Given the description of an element on the screen output the (x, y) to click on. 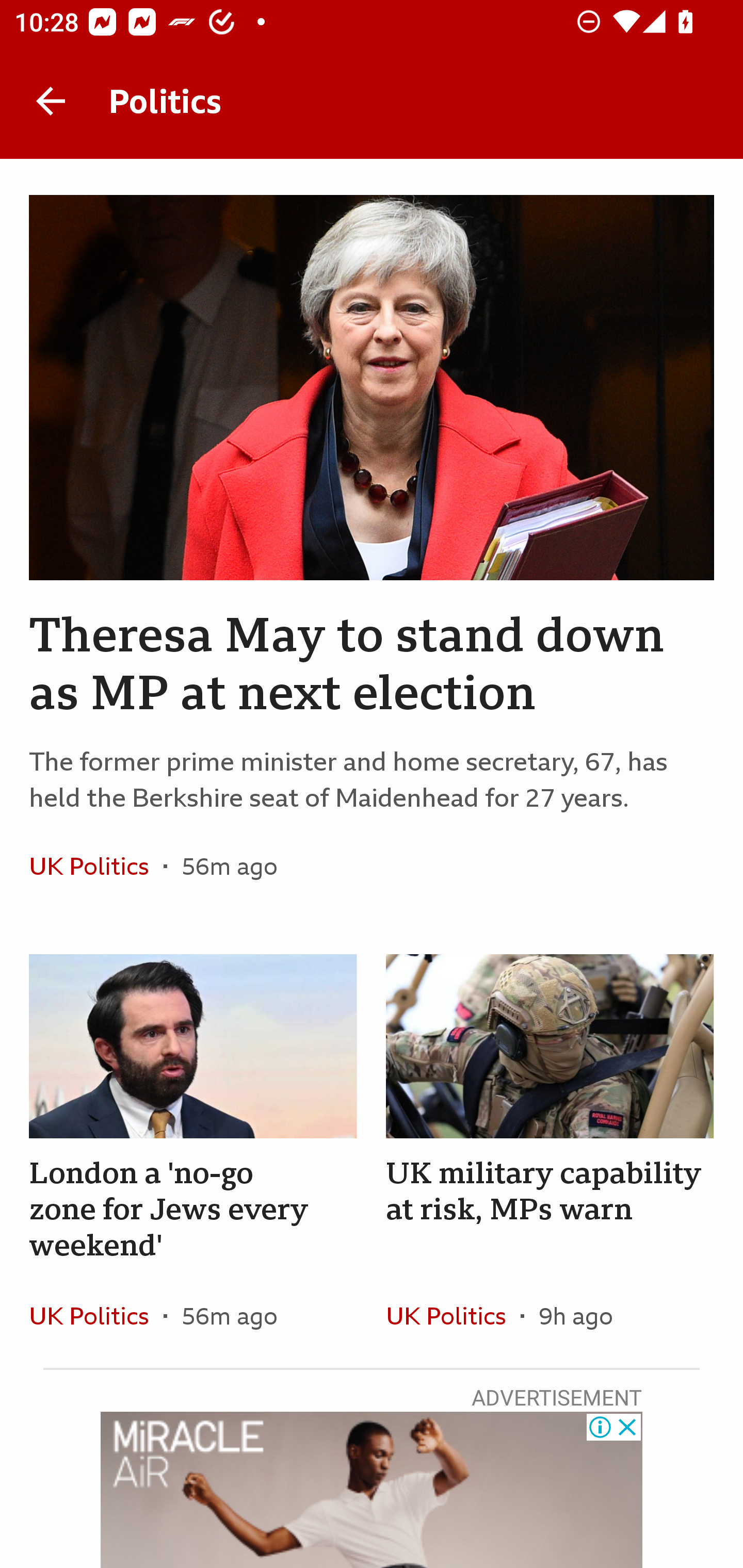
Back (50, 101)
UK Politics In the section UK Politics (95, 865)
UK Politics In the section UK Politics (95, 1315)
UK Politics In the section UK Politics (452, 1315)
Advertisement (371, 1489)
